Given the description of an element on the screen output the (x, y) to click on. 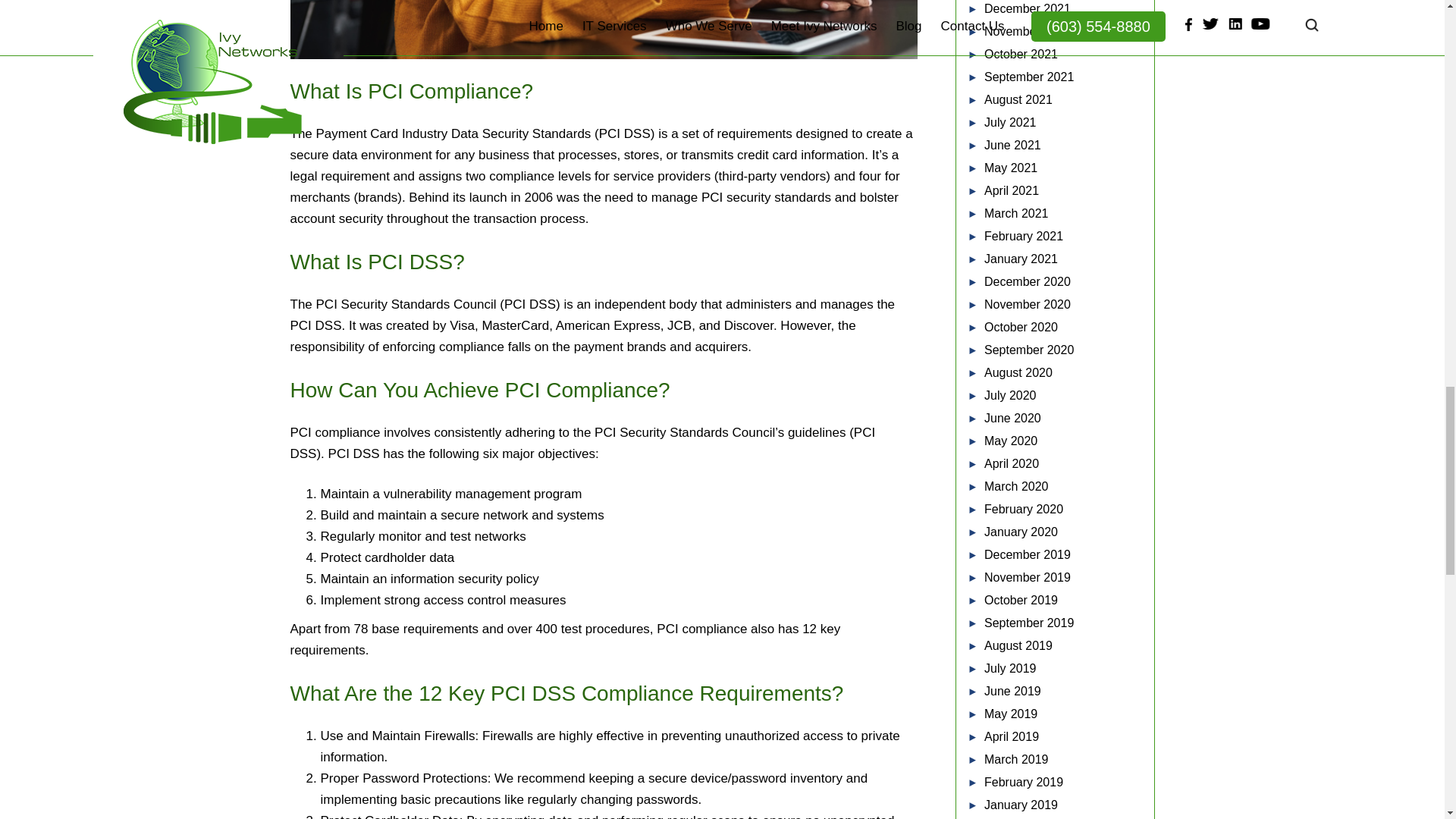
October 2021 (1021, 53)
November 2021 (1027, 31)
December 2021 (1027, 8)
